Given the description of an element on the screen output the (x, y) to click on. 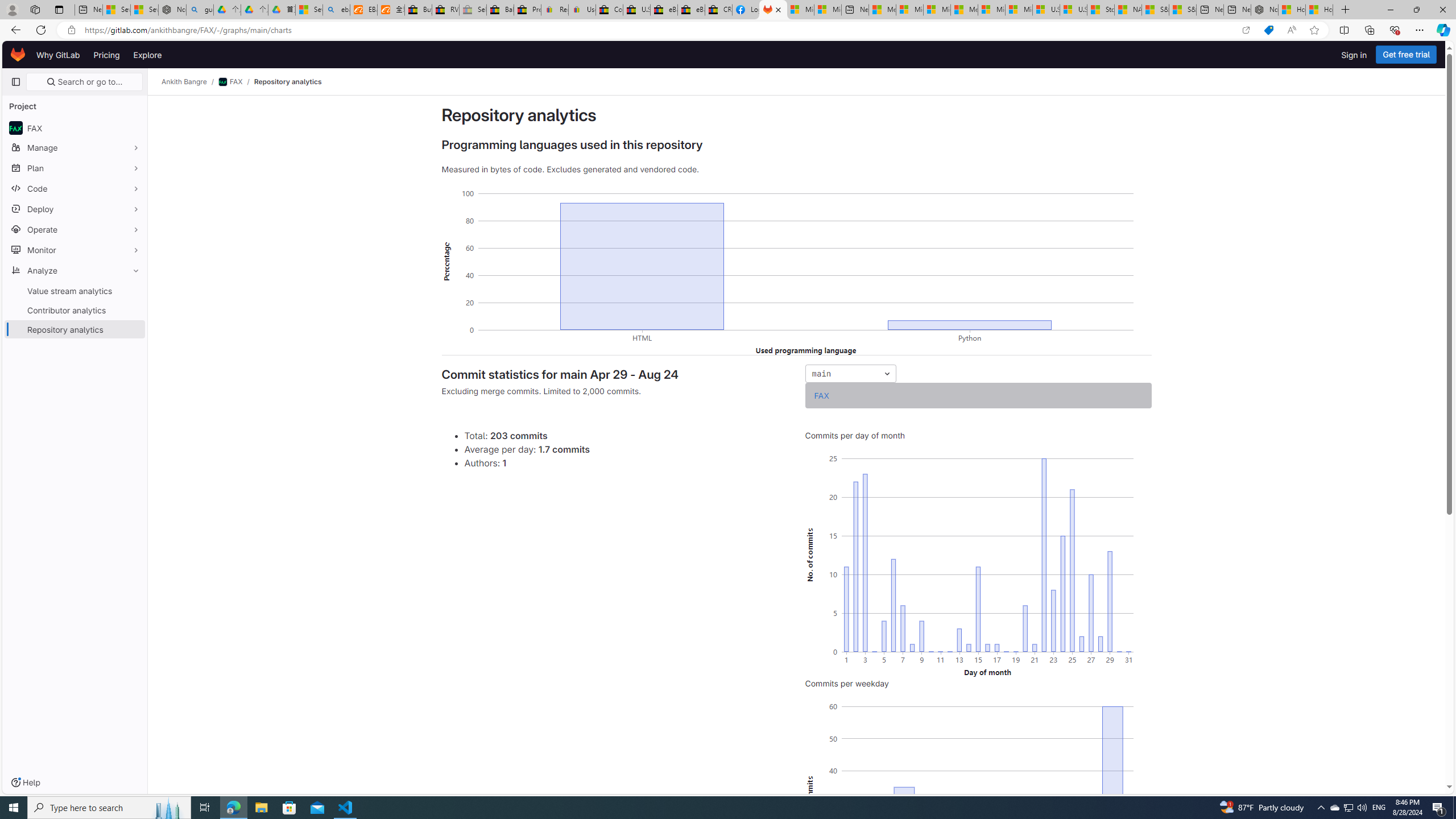
Contributor analytics (74, 309)
Explore (146, 54)
Repository analytics (287, 81)
Help (25, 782)
Why GitLab (58, 54)
Primary navigation sidebar (15, 81)
Pricing (106, 54)
Value stream analytics (74, 290)
Why GitLab (58, 54)
